Given the description of an element on the screen output the (x, y) to click on. 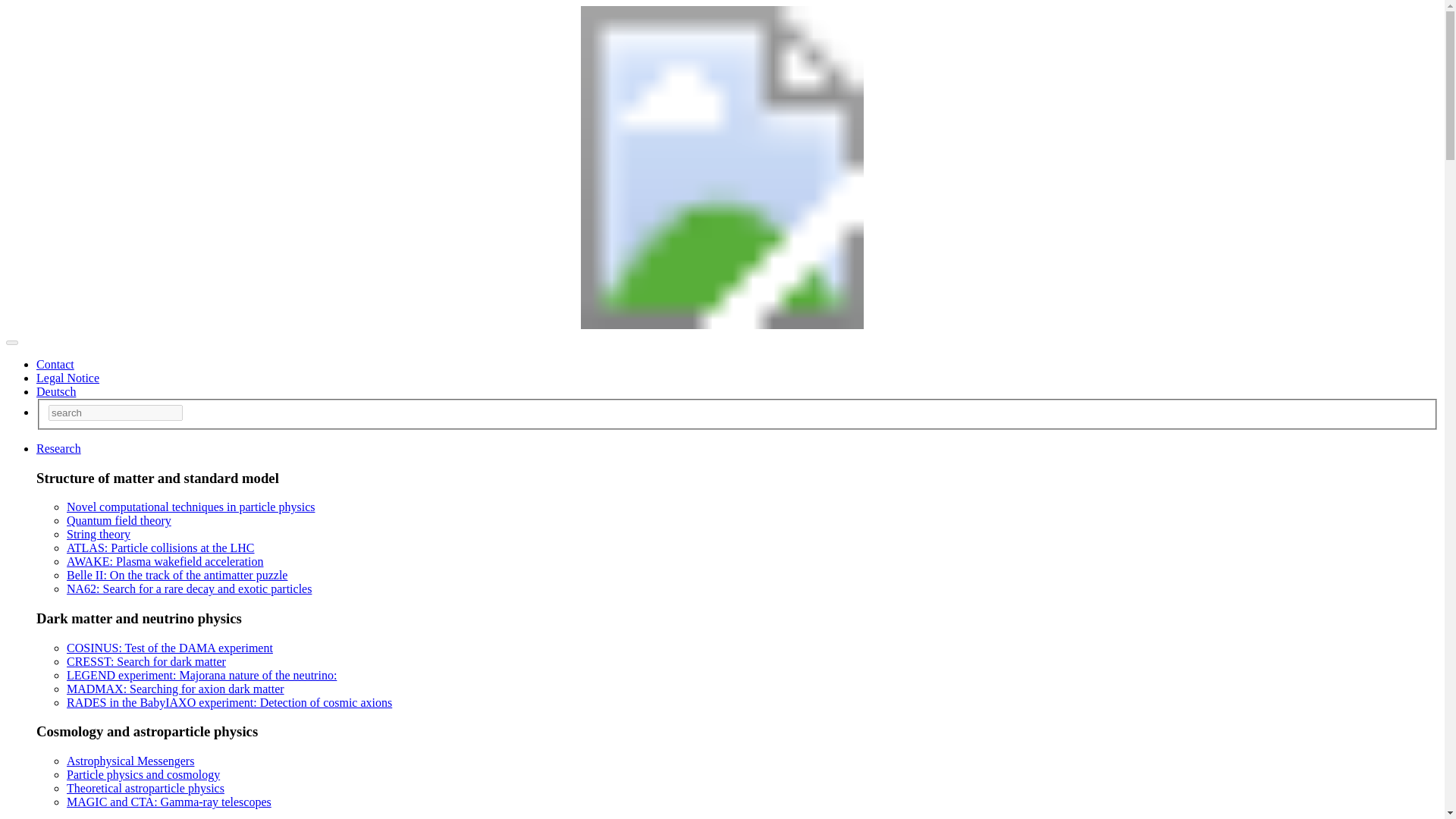
Novel computational techniques in particle physics (190, 506)
Particle physics and cosmology (142, 774)
RADES in the BabyIAXO experiment: Detection of cosmic axions (228, 702)
ATLAS: Particle collisions at the LHC (160, 547)
AWAKE: Plasma wakefield acceleration (164, 561)
Research (58, 448)
Astrophysical Messengers (129, 760)
Belle II: On the track of the antimatter puzzle (176, 574)
String theory (98, 533)
CRESST: Search for dark matter (145, 661)
